Given the description of an element on the screen output the (x, y) to click on. 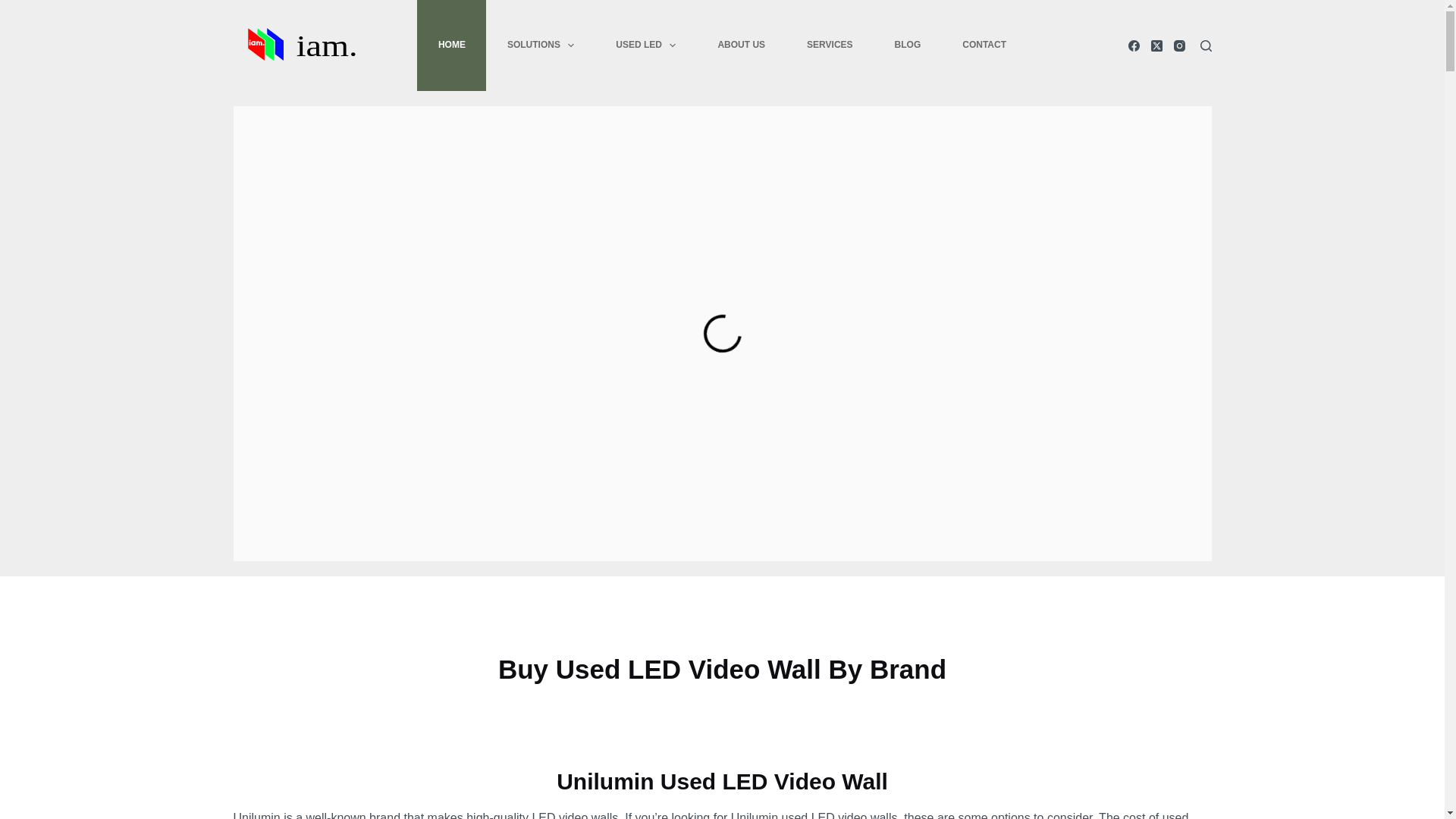
SOLUTIONS (540, 45)
Skip to content (15, 7)
